Given the description of an element on the screen output the (x, y) to click on. 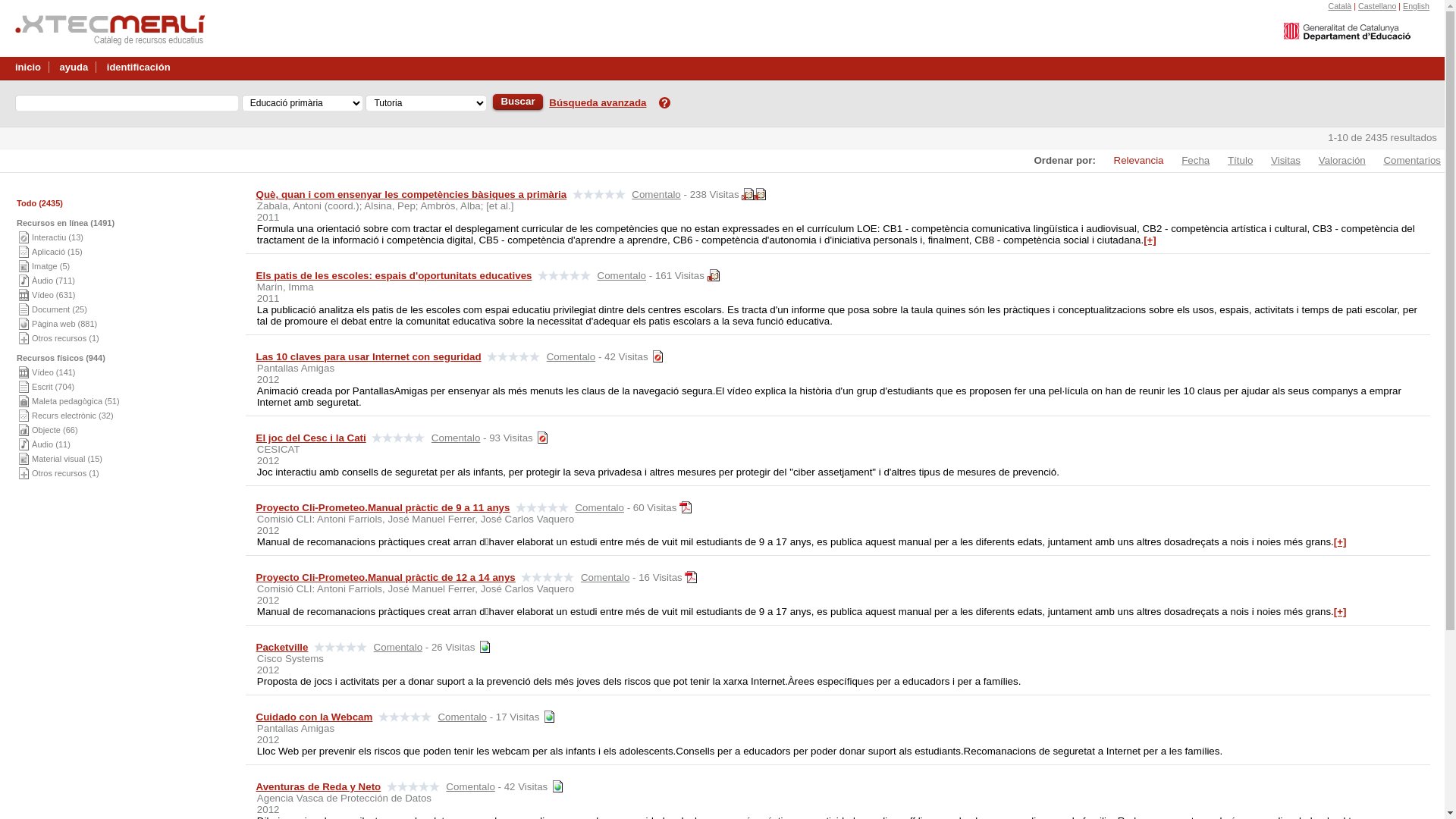
El joc del Cesc i la Cati Element type: text (311, 437)
[+] Element type: text (1339, 611)
Comentarios Element type: text (1404, 160)
61 Element type: hover (747, 194)
7 Element type: hover (685, 507)
Otros recursos (1) Element type: text (65, 337)
Comentalo Element type: text (621, 275)
Els patis de les escoles: espais d'oportunitats educatives Element type: text (394, 275)
Castellano Element type: text (1377, 5)
Packetville Element type: text (282, 646)
Comentalo Element type: text (655, 194)
3 Element type: hover (656, 356)
Relevancia Element type: text (1131, 160)
inicio Element type: text (27, 63)
7 Element type: hover (690, 577)
English Element type: text (1415, 5)
62 Element type: hover (713, 275)
Buscar Element type: text (517, 101)
Otros recursos (1) Element type: text (65, 472)
ayuda Element type: text (74, 63)
21 Element type: hover (556, 786)
Aventuras de Reda y Neto Element type: text (318, 786)
Cuidado con la Webcam Element type: text (314, 716)
Objecte (66) Element type: text (54, 429)
Imatge (5) Element type: text (50, 265)
Material visual (15) Element type: text (66, 458)
Document (25) Element type: text (59, 308)
62 Element type: hover (759, 194)
Las 10 claves para usar Internet con seguridad Element type: text (368, 356)
Interactiu (13) Element type: text (57, 236)
Escrit (704) Element type: text (52, 386)
Comentalo Element type: text (455, 437)
[+] Element type: text (1149, 239)
21 Element type: hover (483, 646)
Comentalo Element type: text (598, 507)
Visitas Element type: text (1277, 160)
21 Element type: hover (548, 716)
Comentalo Element type: text (461, 716)
Comentalo Element type: text (604, 577)
Comentalo Element type: text (570, 356)
Comentalo Element type: text (397, 646)
Comentalo Element type: text (469, 786)
Fecha Element type: text (1187, 160)
3 Element type: hover (541, 437)
[+] Element type: text (1339, 541)
